Given the description of an element on the screen output the (x, y) to click on. 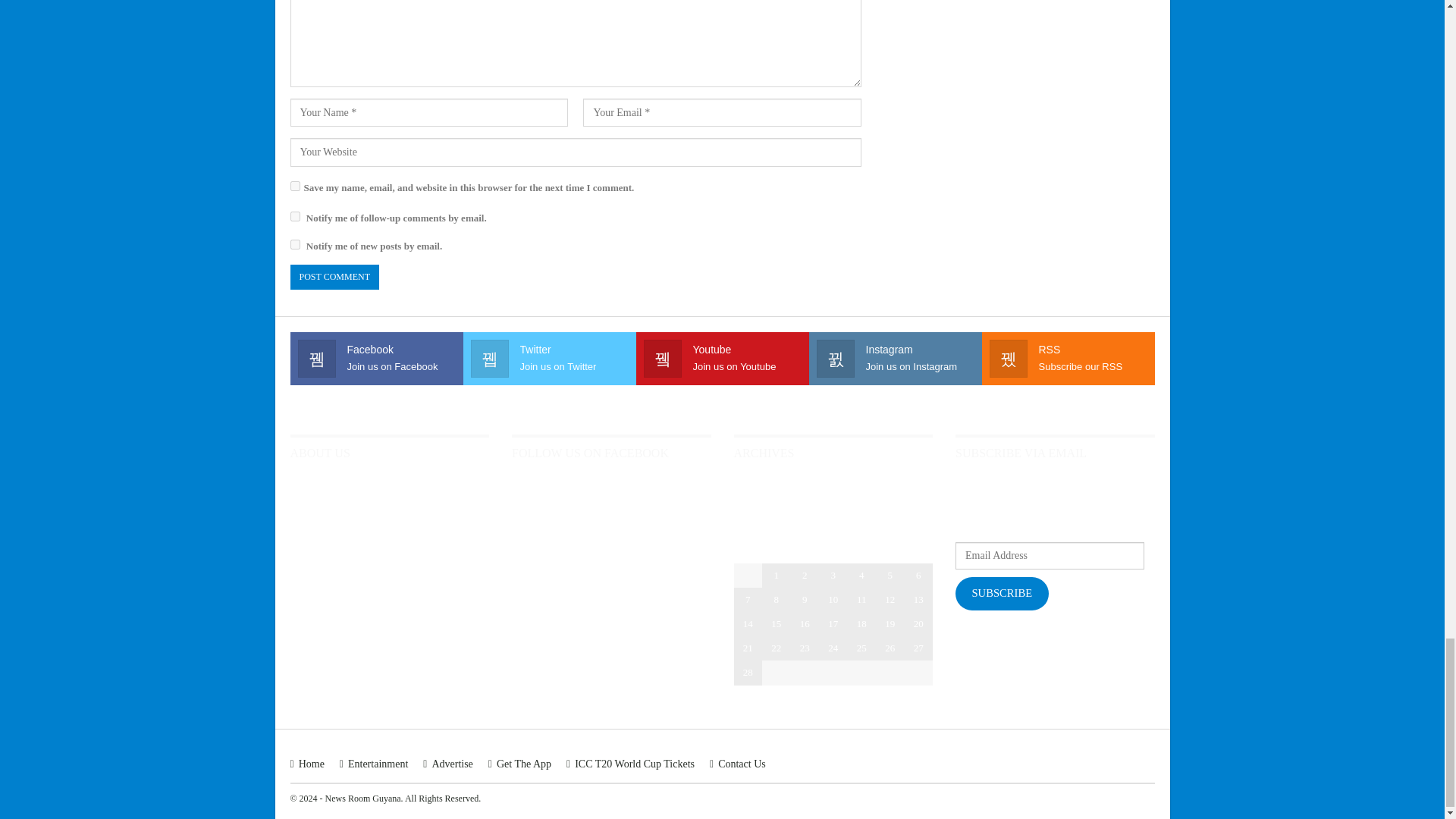
yes (294, 185)
subscribe (294, 244)
subscribe (294, 216)
Post Comment (333, 276)
